Given the description of an element on the screen output the (x, y) to click on. 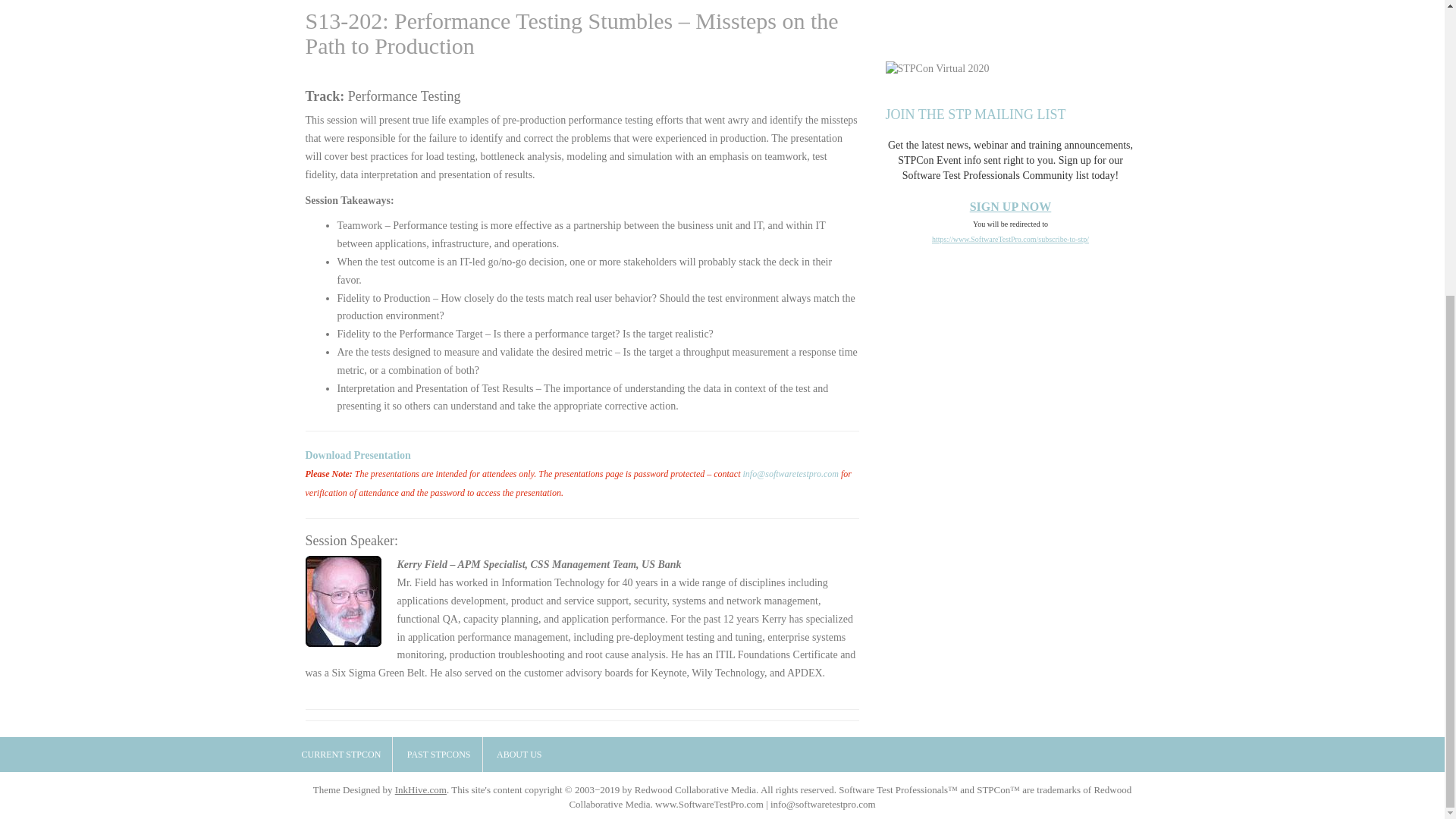
Download Presentation (357, 455)
PAST STPCONS (438, 754)
InkHive.com (420, 789)
SIGN UP NOW (1010, 205)
ABOUT US (518, 754)
CURRENT STPCON (341, 754)
